Given the description of an element on the screen output the (x, y) to click on. 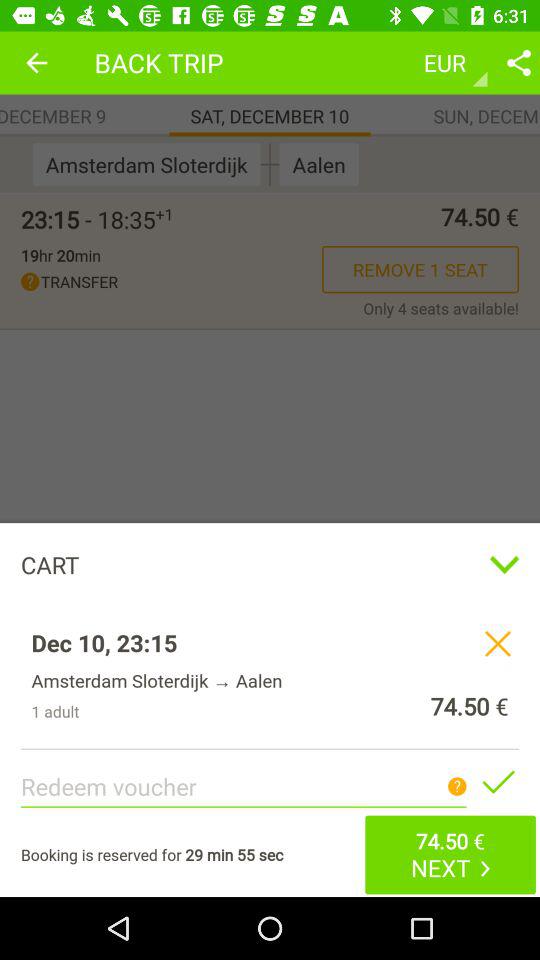
choose the item next to the aalen icon (269, 164)
